Given the description of an element on the screen output the (x, y) to click on. 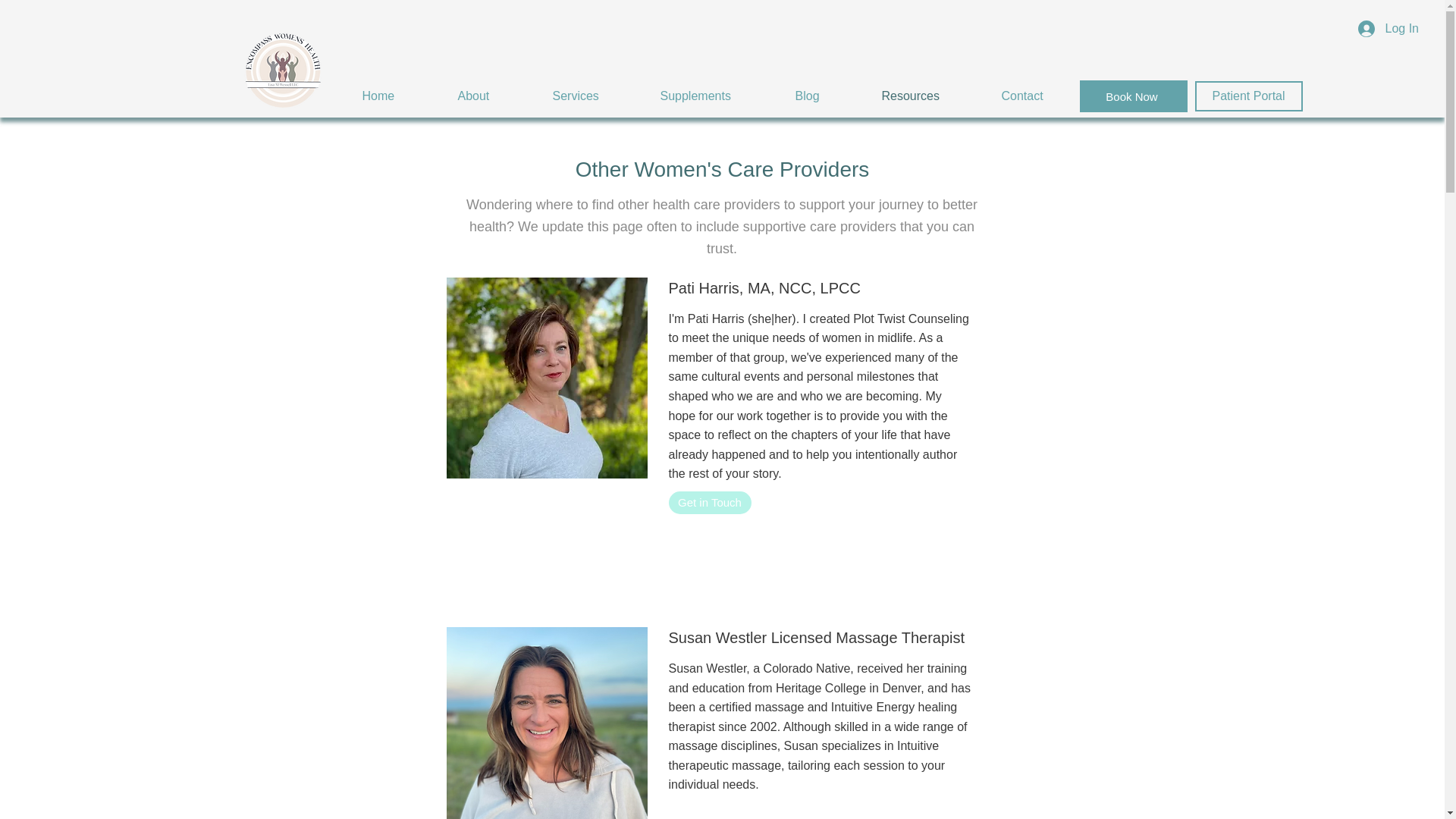
Book Now (1134, 96)
Supplements (716, 95)
Pati - head shot.jpg (545, 377)
Contact (1042, 95)
Blog (827, 95)
Resources (930, 95)
Susan.heic (545, 723)
Get in Touch (709, 502)
Home (397, 95)
Log In (1388, 28)
